Given the description of an element on the screen output the (x, y) to click on. 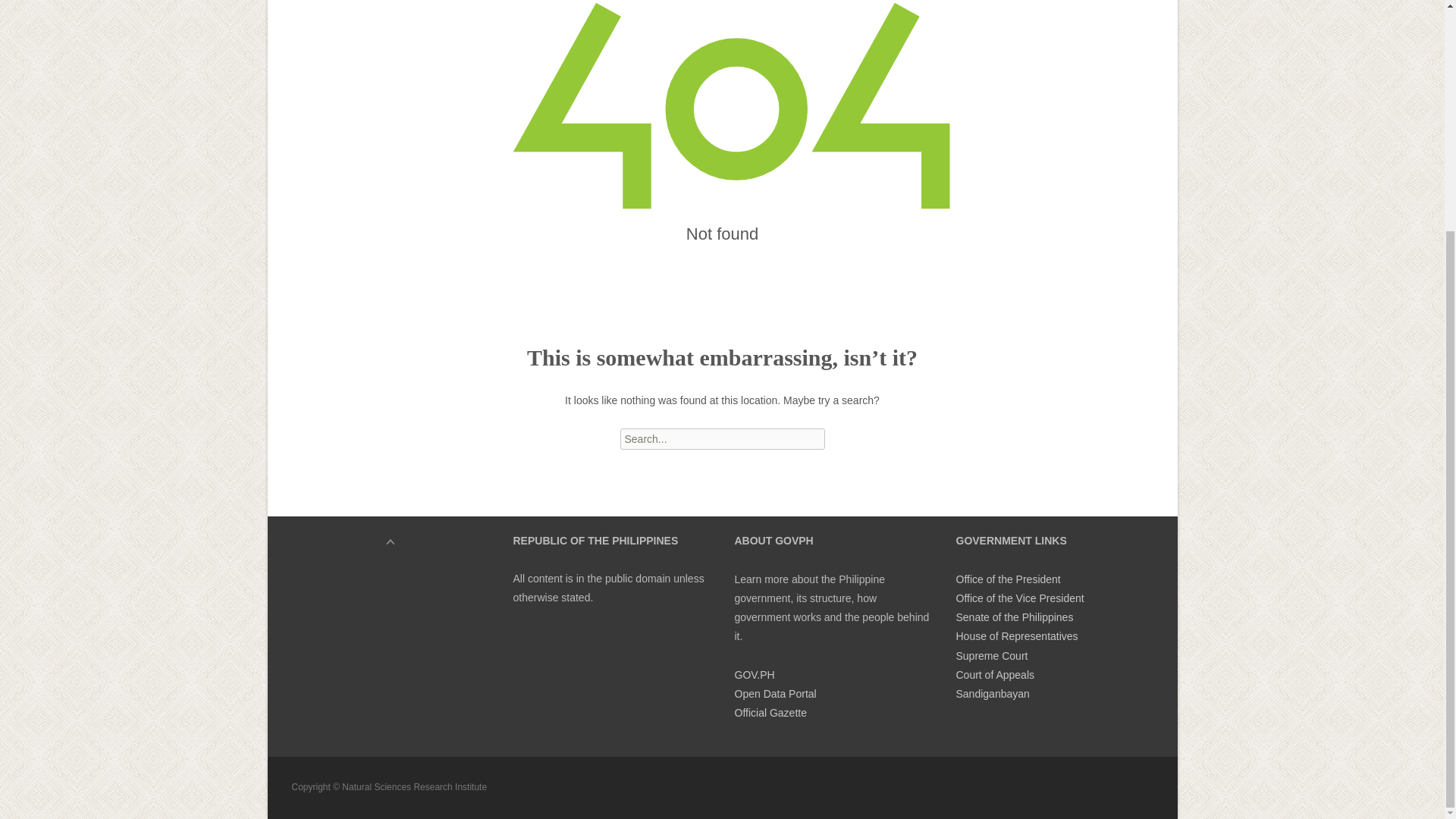
Official Gazette (769, 712)
Senate of the Philippines (1014, 616)
GOV.PH (753, 674)
Open Data Portal (774, 693)
Sandiganbayan (992, 693)
Court of Appeals (994, 674)
Office of the President (1007, 579)
House of Representatives (1016, 635)
Office of the Vice President (1019, 598)
Supreme Court (991, 655)
